Given the description of an element on the screen output the (x, y) to click on. 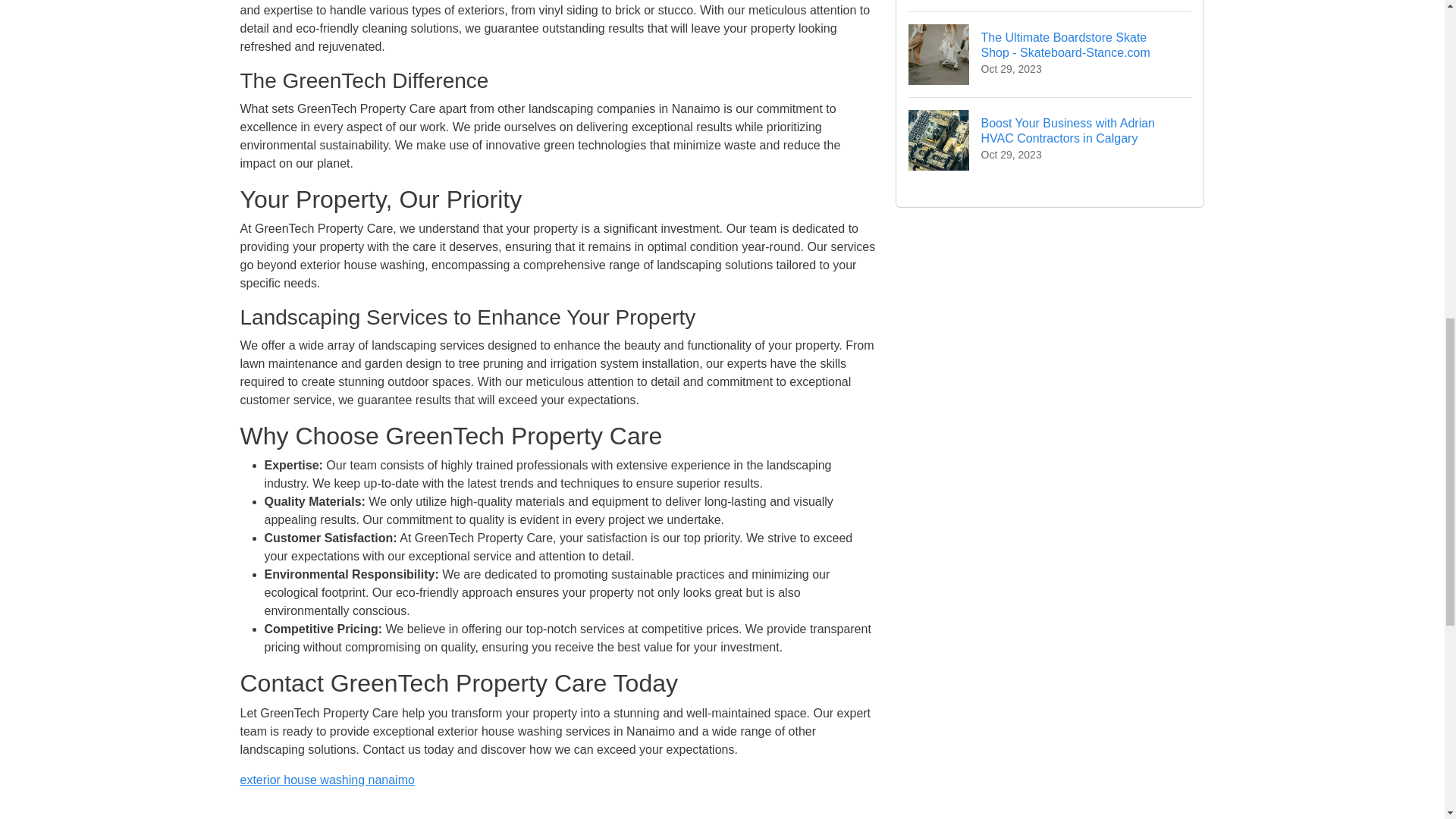
exterior house washing nanaimo (326, 779)
